Given the description of an element on the screen output the (x, y) to click on. 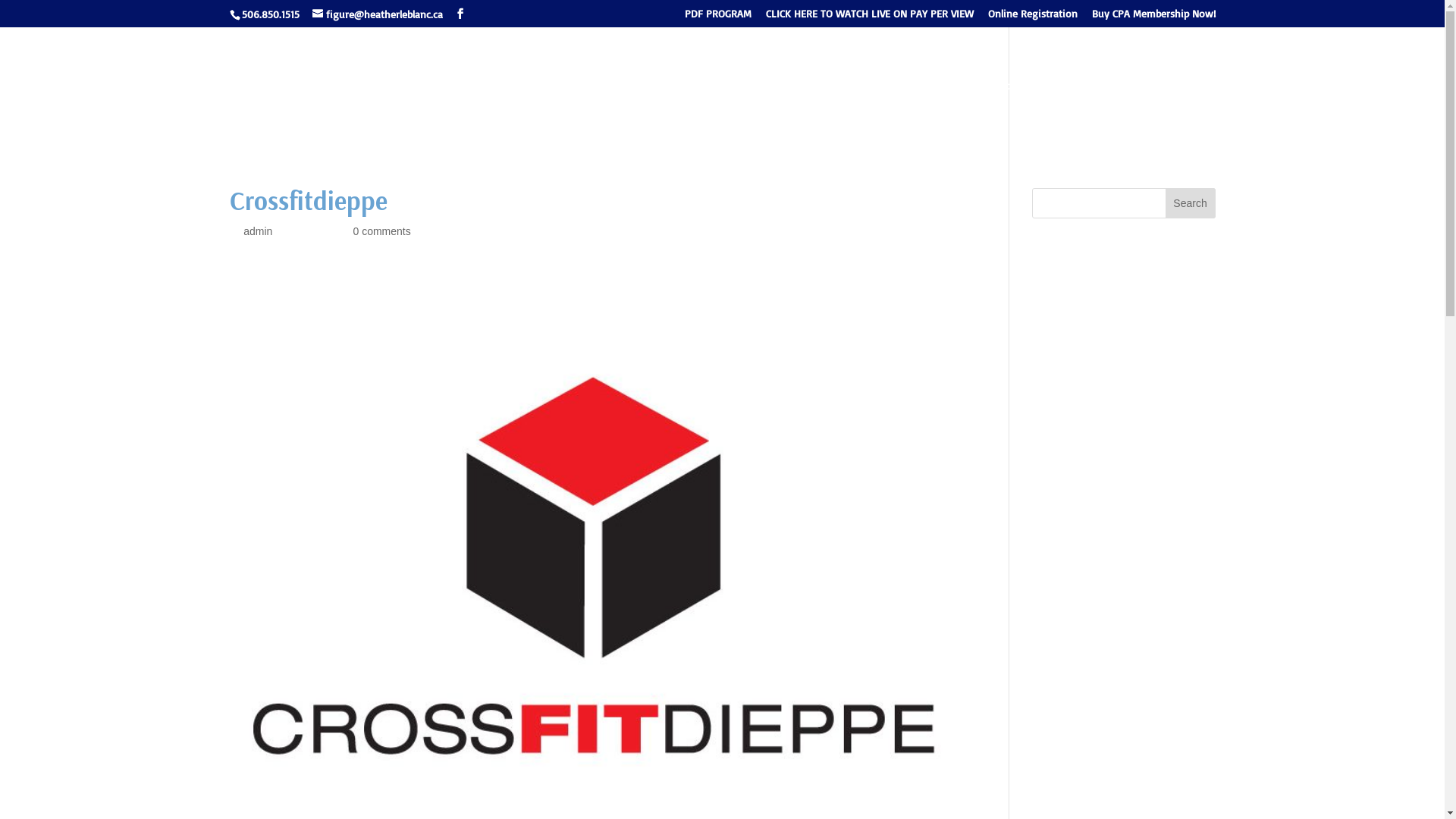
Search Element type: text (1190, 203)
figure@heatherleblanc.ca Element type: text (377, 13)
Contact Element type: text (1166, 112)
PDF PROGRAM Element type: text (717, 16)
Home Element type: text (739, 112)
Tickets Element type: text (789, 112)
Gallery & Results Element type: text (1083, 112)
About Element type: text (937, 112)
General Info Element type: text (860, 112)
Online Registration Element type: text (1031, 16)
Sponsors Element type: text (998, 112)
Buy CPA Membership Now! Element type: text (1153, 16)
0 comments Element type: text (381, 231)
admin Element type: text (257, 231)
CLICK HERE TO WATCH LIVE ON PAY PER VIEW Element type: text (869, 16)
